Given the description of an element on the screen output the (x, y) to click on. 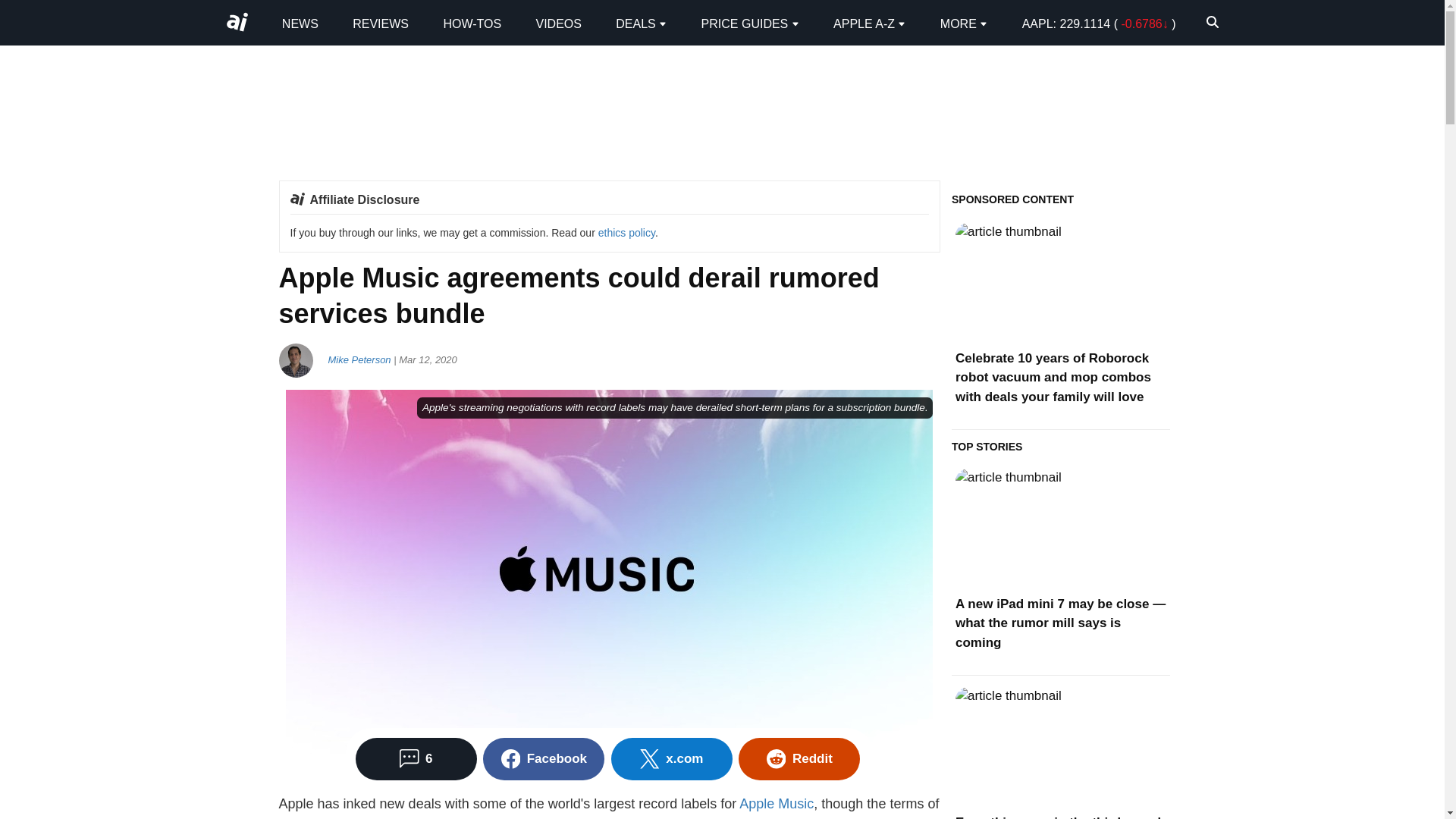
HOW-TOS (471, 23)
How-Tos (471, 23)
Reviews (380, 23)
News (300, 23)
Videos (557, 23)
NEWS (300, 23)
REVIEWS (380, 23)
VIDEOS (557, 23)
